Given the description of an element on the screen output the (x, y) to click on. 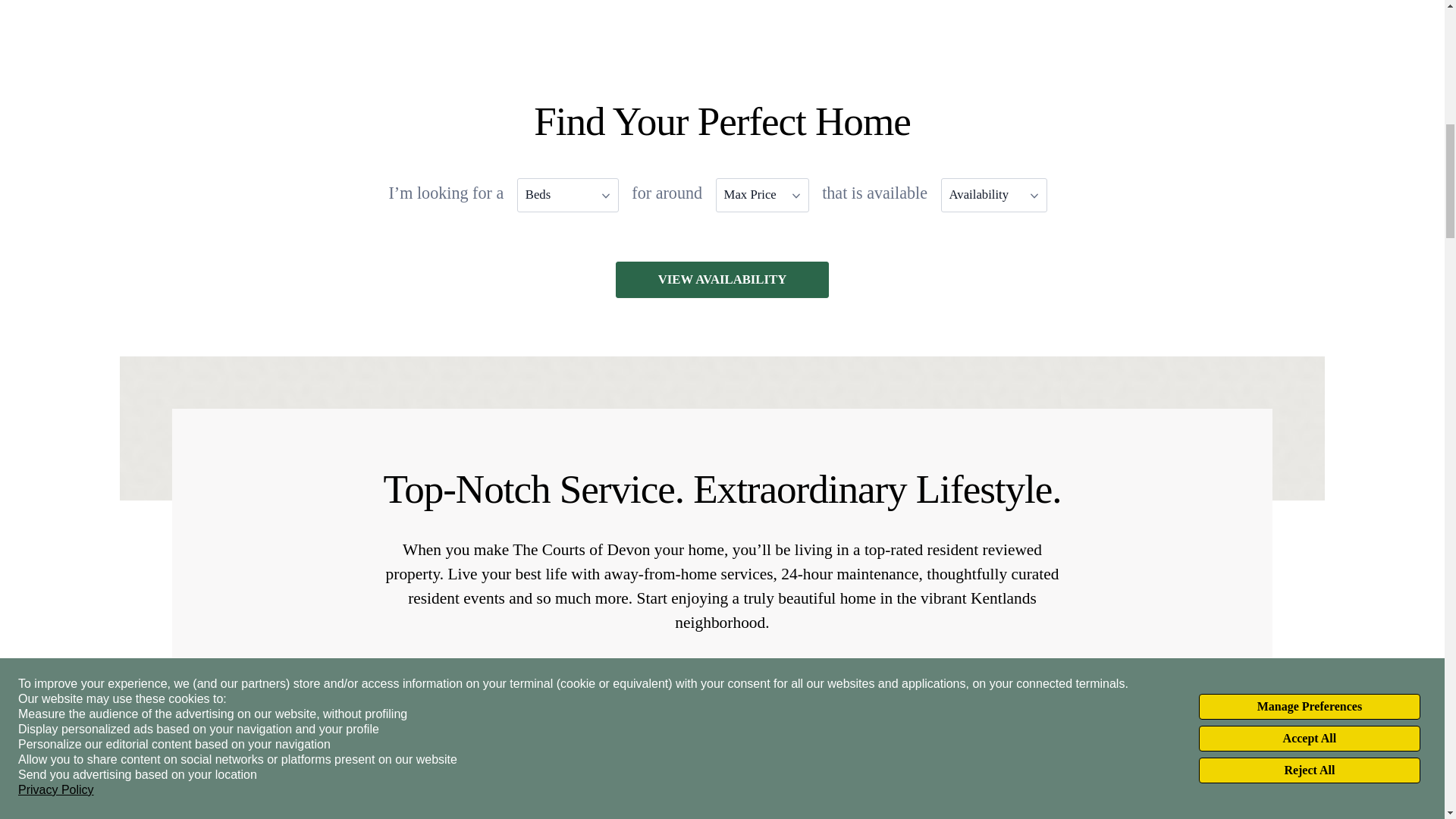
Max Price (762, 195)
VIEW AVAILABILITY (721, 279)
Availability (993, 195)
Beds (567, 195)
